Given the description of an element on the screen output the (x, y) to click on. 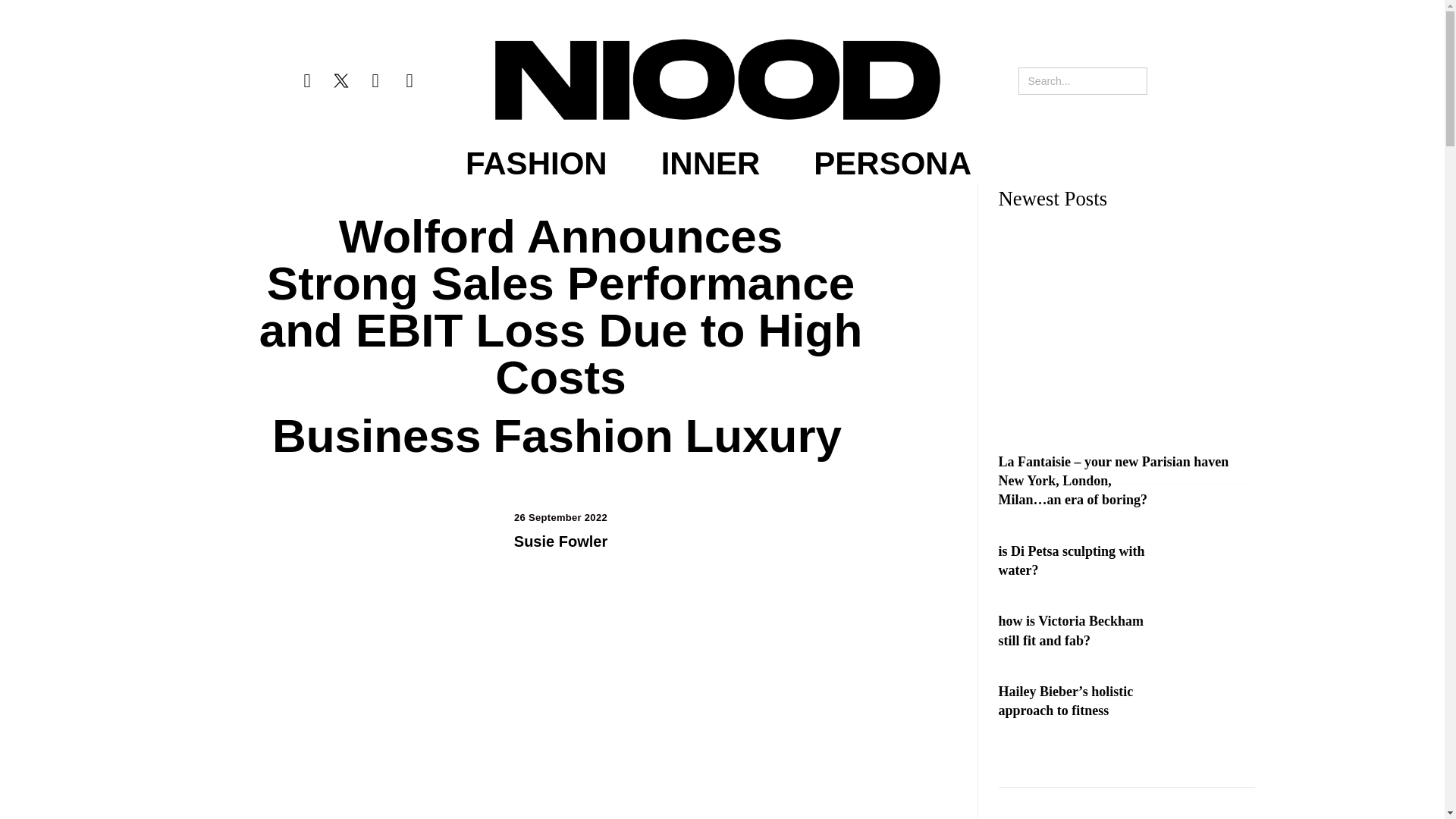
FASHION (536, 163)
Fashion (582, 435)
Luxury (762, 435)
PERSONA (892, 163)
INNER (710, 163)
Business (376, 435)
Susie Fowler (560, 541)
